Given the description of an element on the screen output the (x, y) to click on. 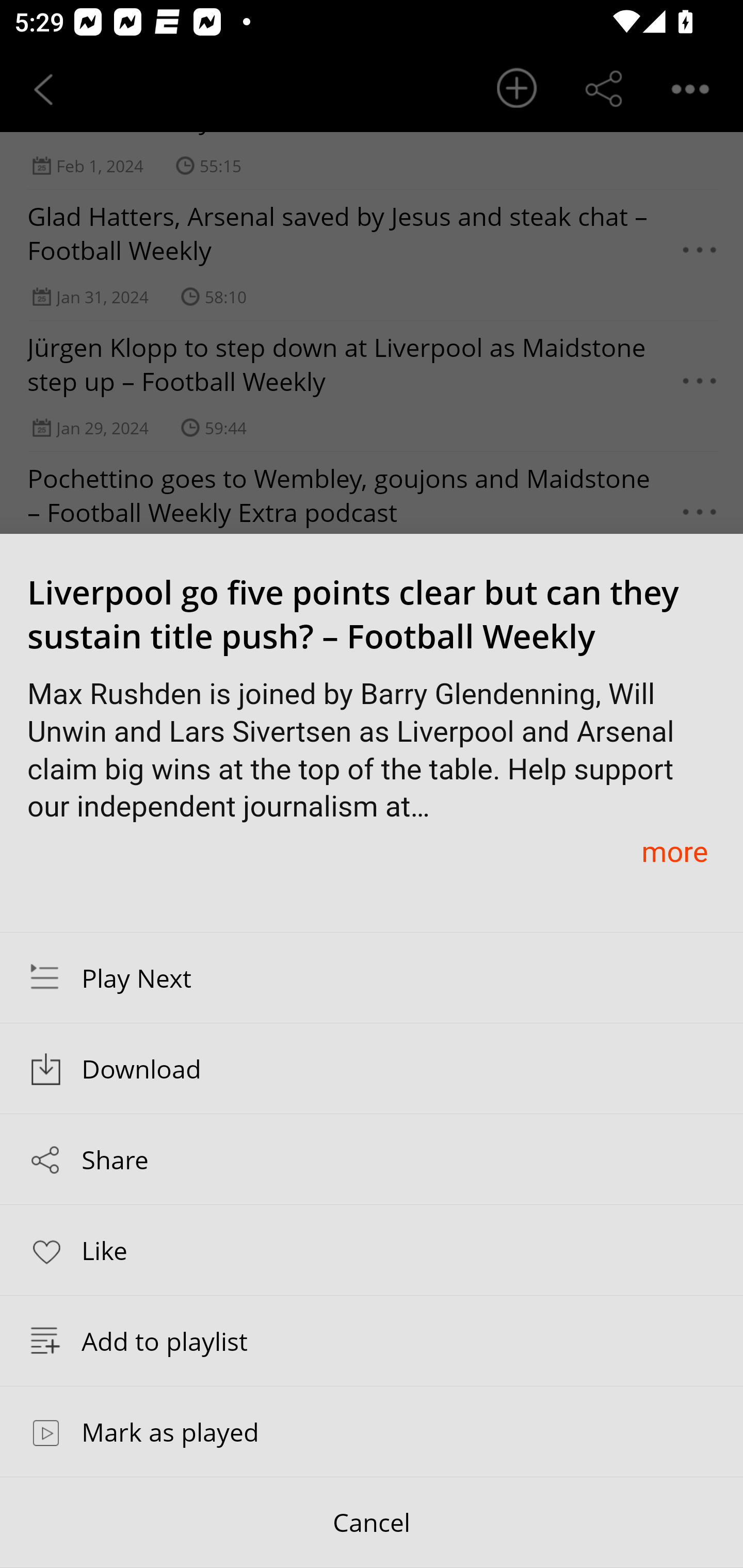
more (674, 851)
Play Next (371, 977)
Download (371, 1068)
Share (371, 1159)
Like (371, 1249)
Add to playlist (371, 1340)
Mark as played (371, 1431)
Cancel (371, 1522)
